Given the description of an element on the screen output the (x, y) to click on. 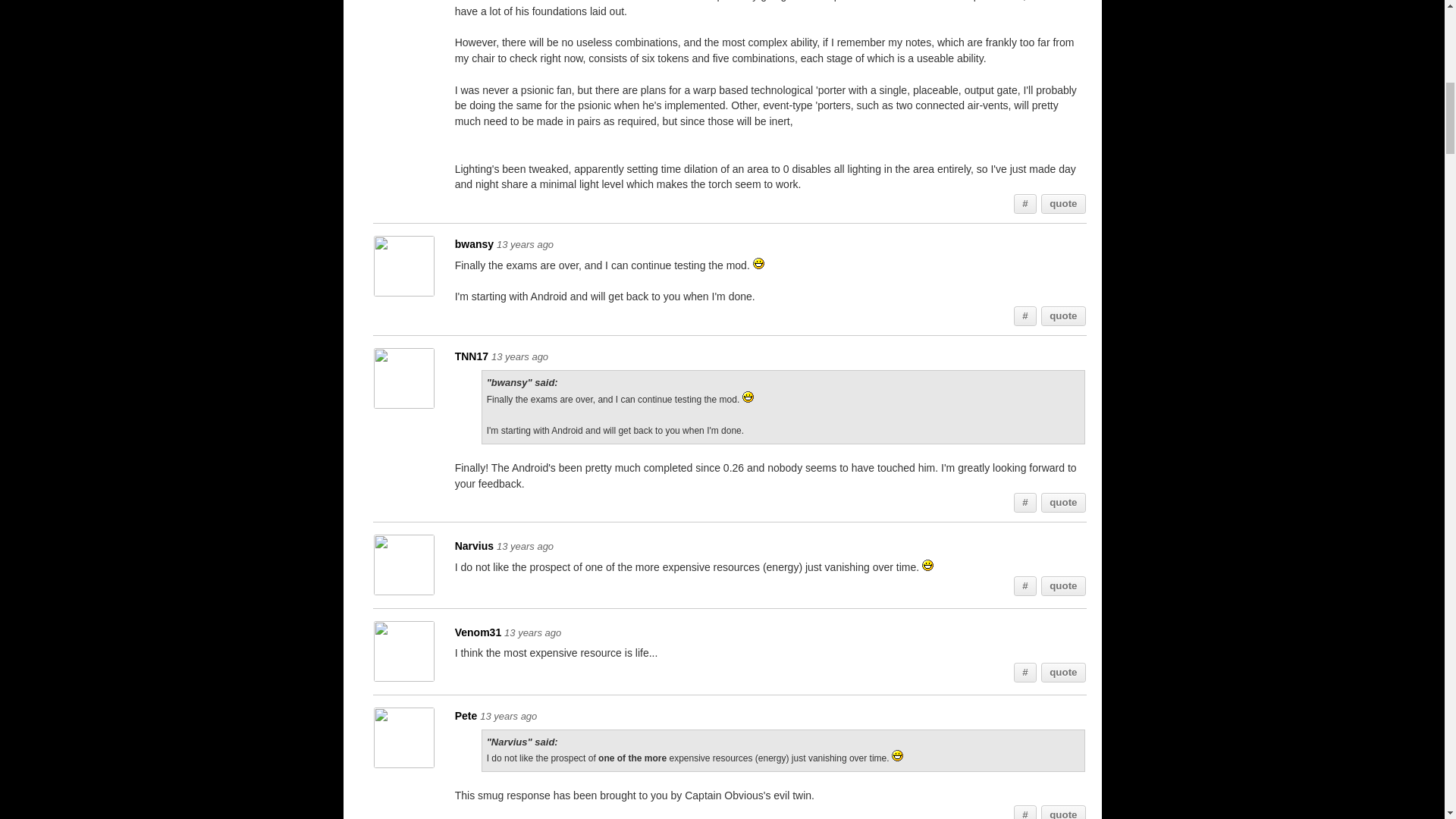
quote (1063, 672)
quote (1063, 586)
quote (1063, 502)
Link to this post (1024, 586)
Link to this post (1024, 672)
quote (1063, 812)
quote (1063, 316)
Link to this post (1024, 316)
Link to this post (1024, 502)
quote (1063, 203)
Link to this post (1024, 203)
Link to this post (1024, 812)
